Given the description of an element on the screen output the (x, y) to click on. 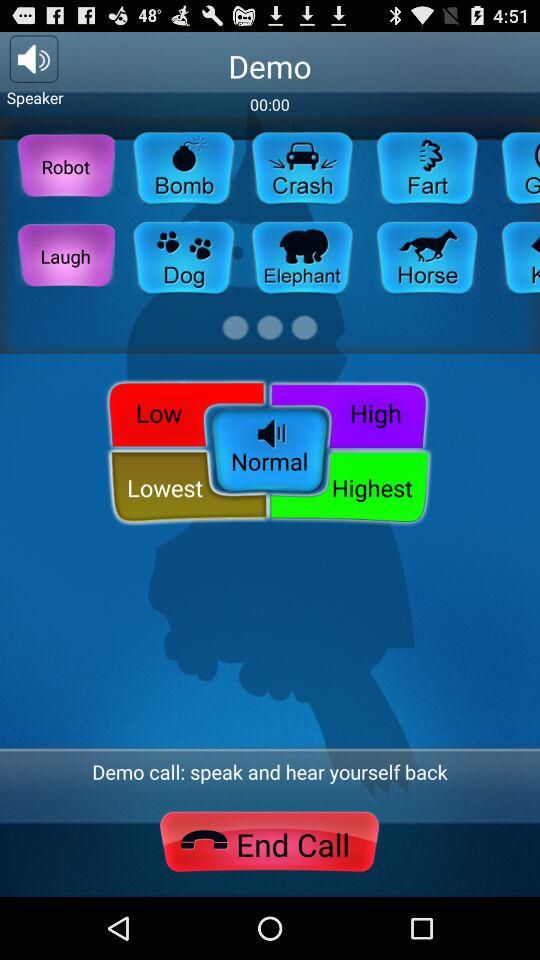
turn on icon above the demo call speak app (269, 452)
